Given the description of an element on the screen output the (x, y) to click on. 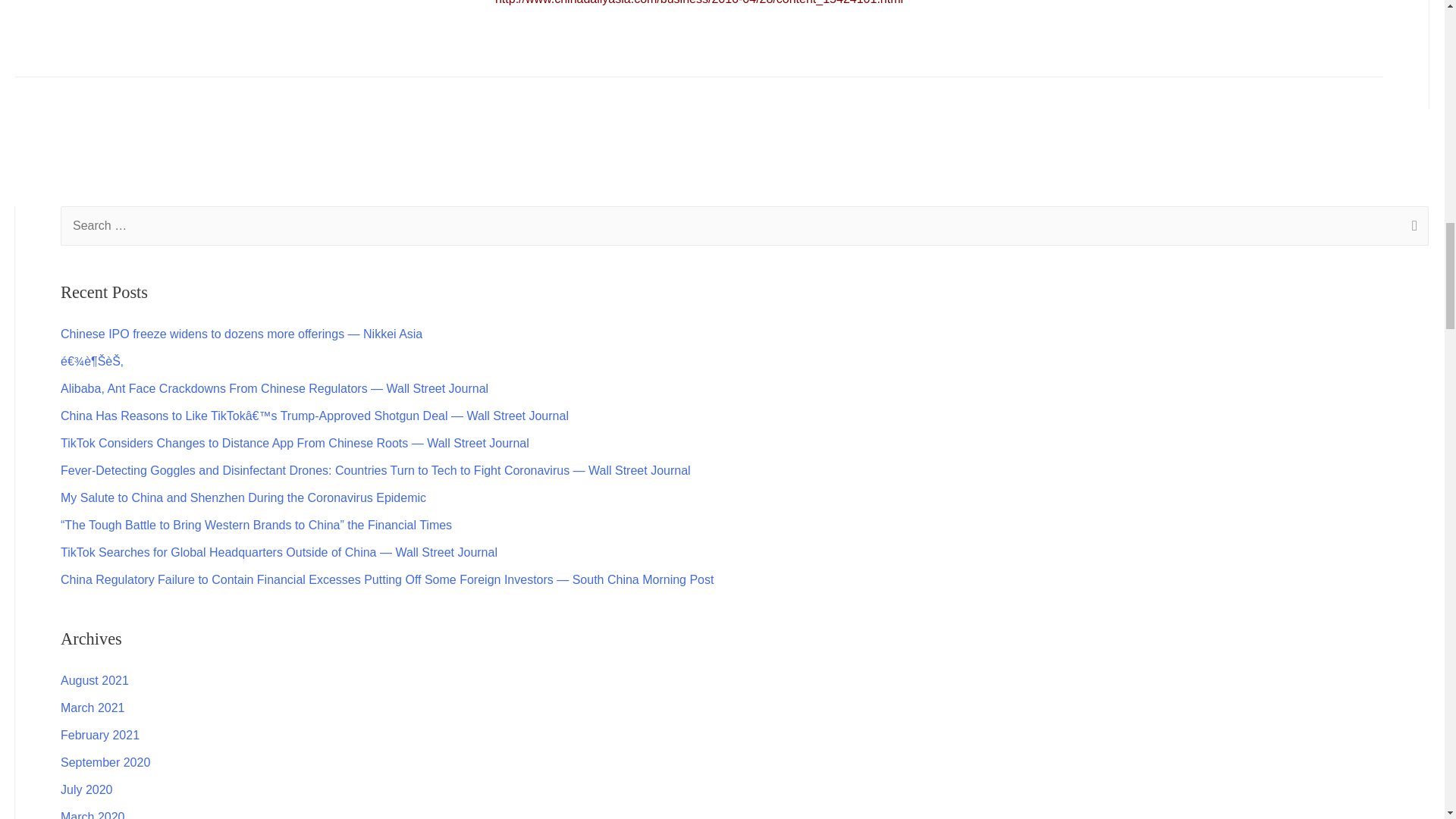
July 2020 (87, 789)
August 2021 (95, 680)
February 2021 (100, 735)
September 2020 (105, 762)
March 2020 (93, 814)
March 2021 (93, 707)
